Given the description of an element on the screen output the (x, y) to click on. 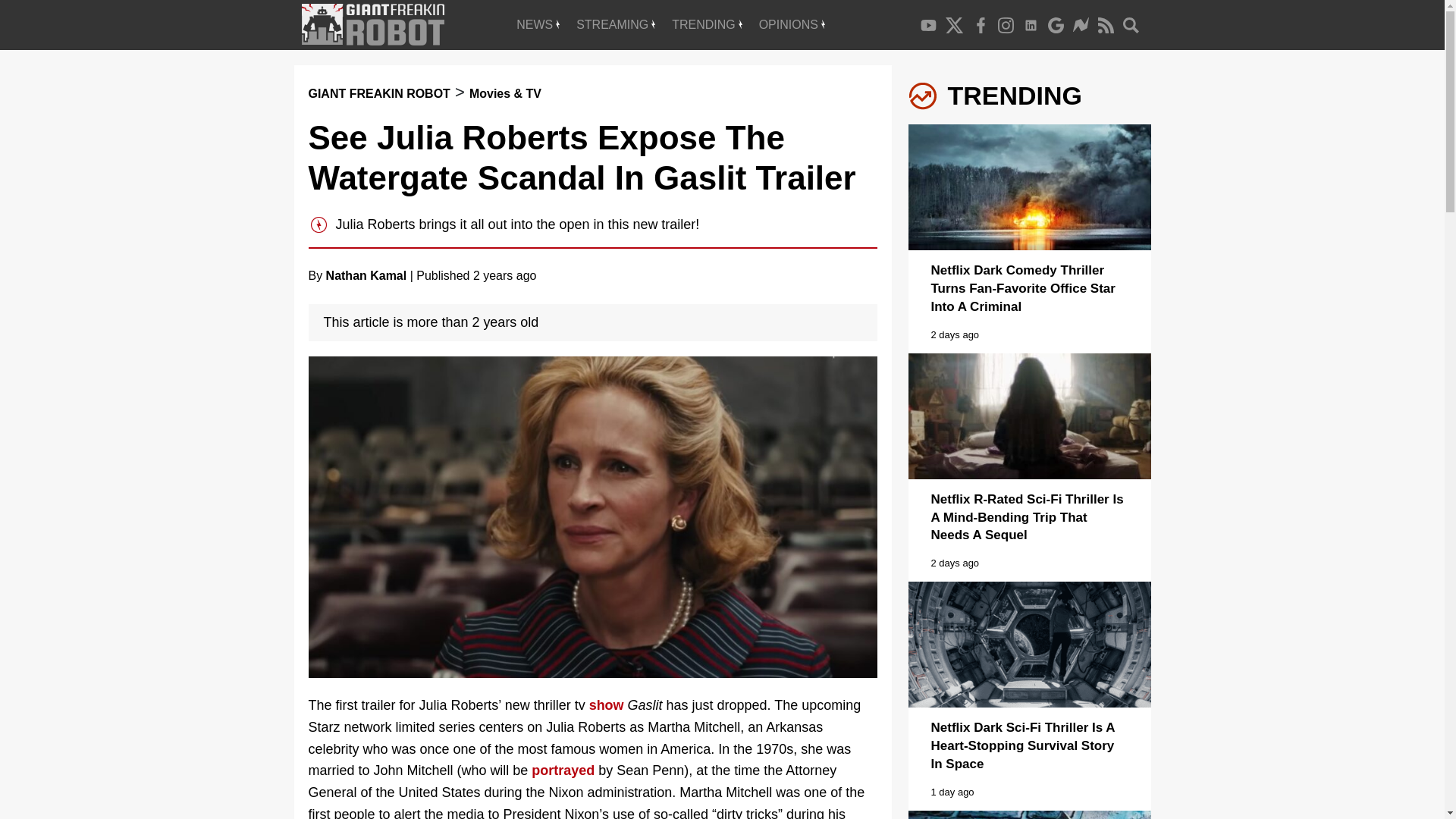
Trending (706, 24)
STREAMING (615, 24)
NEWS (537, 24)
Entertainment News (537, 24)
GIANT FREAKIN ROBOT (378, 92)
Nathan Kamal (366, 275)
Streaming (615, 24)
show (606, 704)
TRENDING (706, 24)
OPINIONS (791, 24)
